Given the description of an element on the screen output the (x, y) to click on. 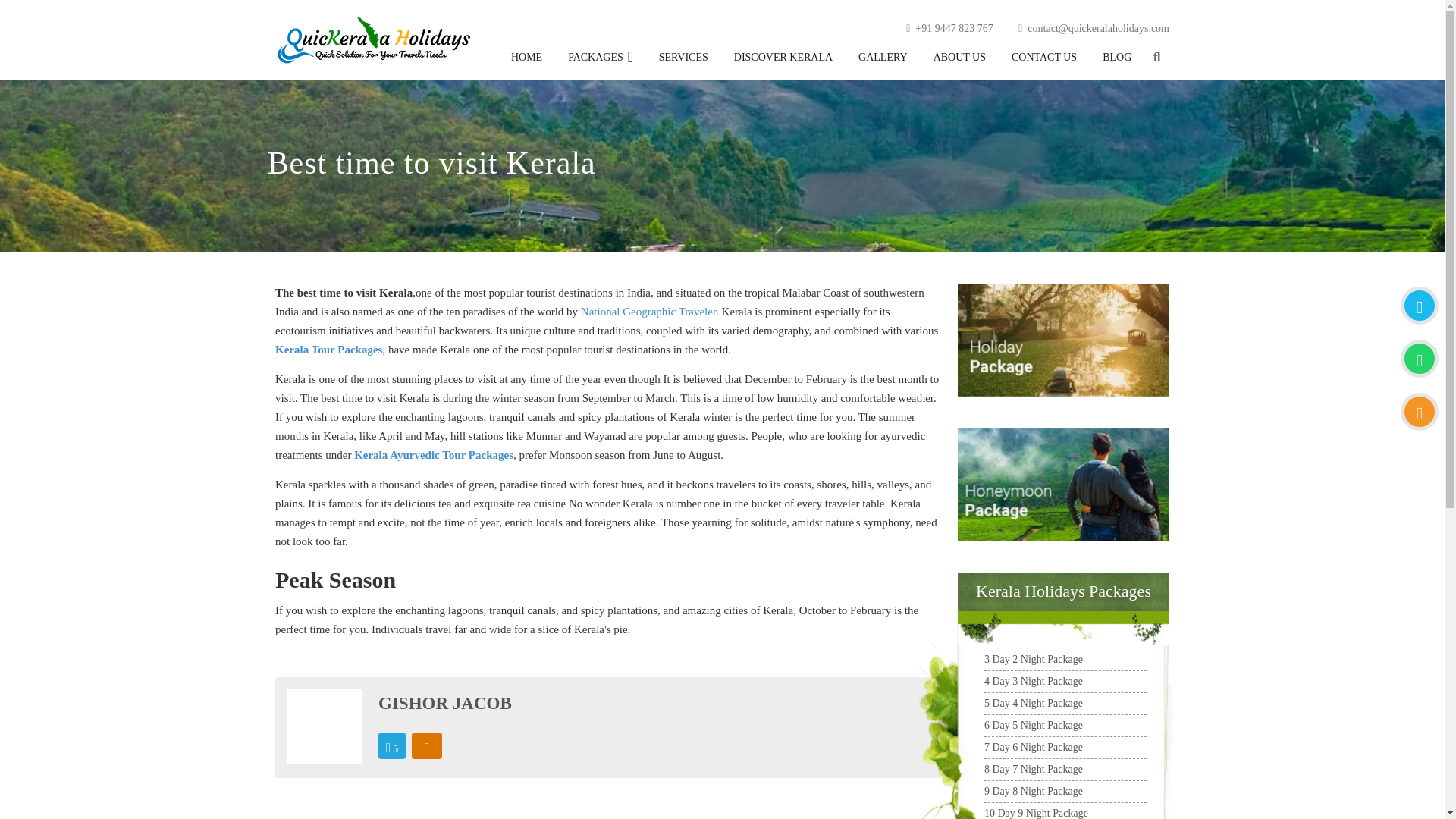
GISHOR JACOB (445, 702)
DISCOVER KERALA (782, 57)
Search (1156, 57)
Call (1419, 358)
Dropdown Menu (628, 55)
CONTACT US (1043, 57)
ABOUT US (959, 57)
PACKAGES (595, 57)
Menu item: Packages (595, 57)
Kerala Ayurvedic Tour Packages (433, 454)
Menu item: Services (683, 57)
Call (1419, 305)
Menu item: Home (525, 57)
SERVICES (683, 57)
National Geographic Traveler (648, 311)
